Given the description of an element on the screen output the (x, y) to click on. 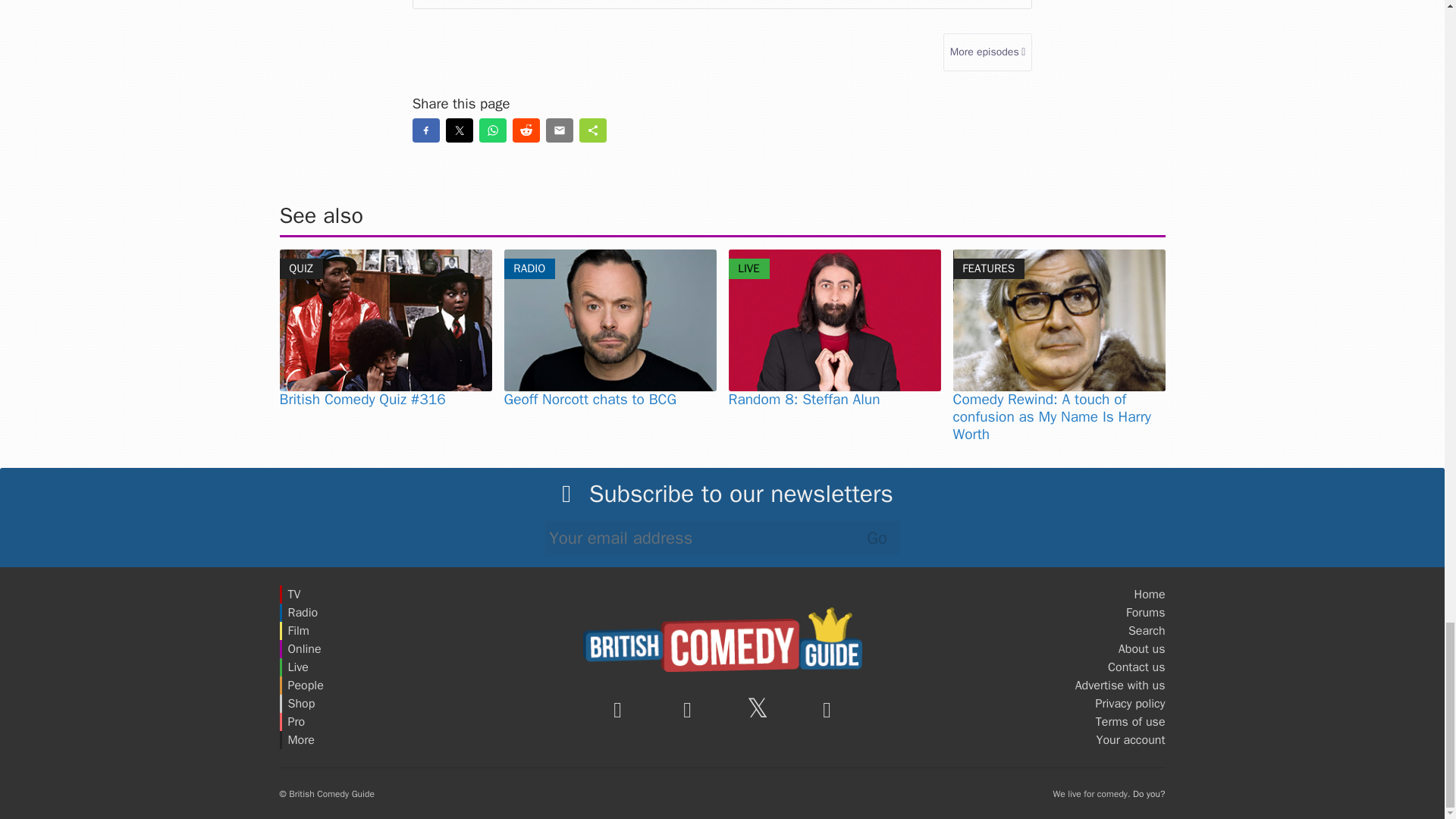
Steffan Alun (834, 320)
Geoff Norcott (609, 320)
